Given the description of an element on the screen output the (x, y) to click on. 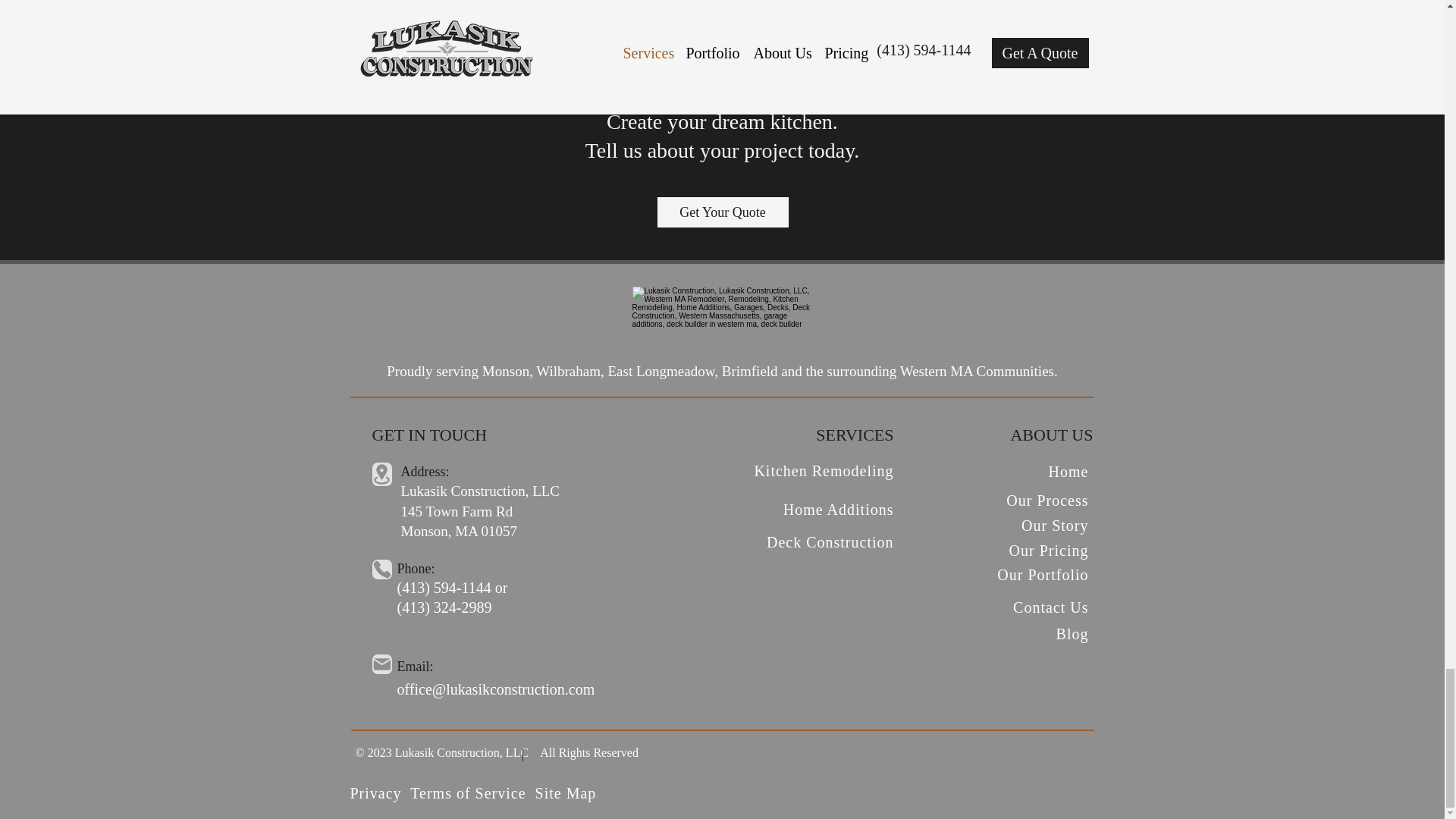
Home Additions (838, 509)
Our Portfolio (1042, 574)
Contact Us (1050, 606)
Deck Construction (830, 541)
Our Pricing (1049, 550)
View Full Portfolio (721, 33)
Our Process (1046, 500)
Our Story (1054, 524)
Blog (1073, 633)
Home (1068, 471)
Get Your Quote (721, 212)
Kitchen Remodeling (823, 470)
